Given the description of an element on the screen output the (x, y) to click on. 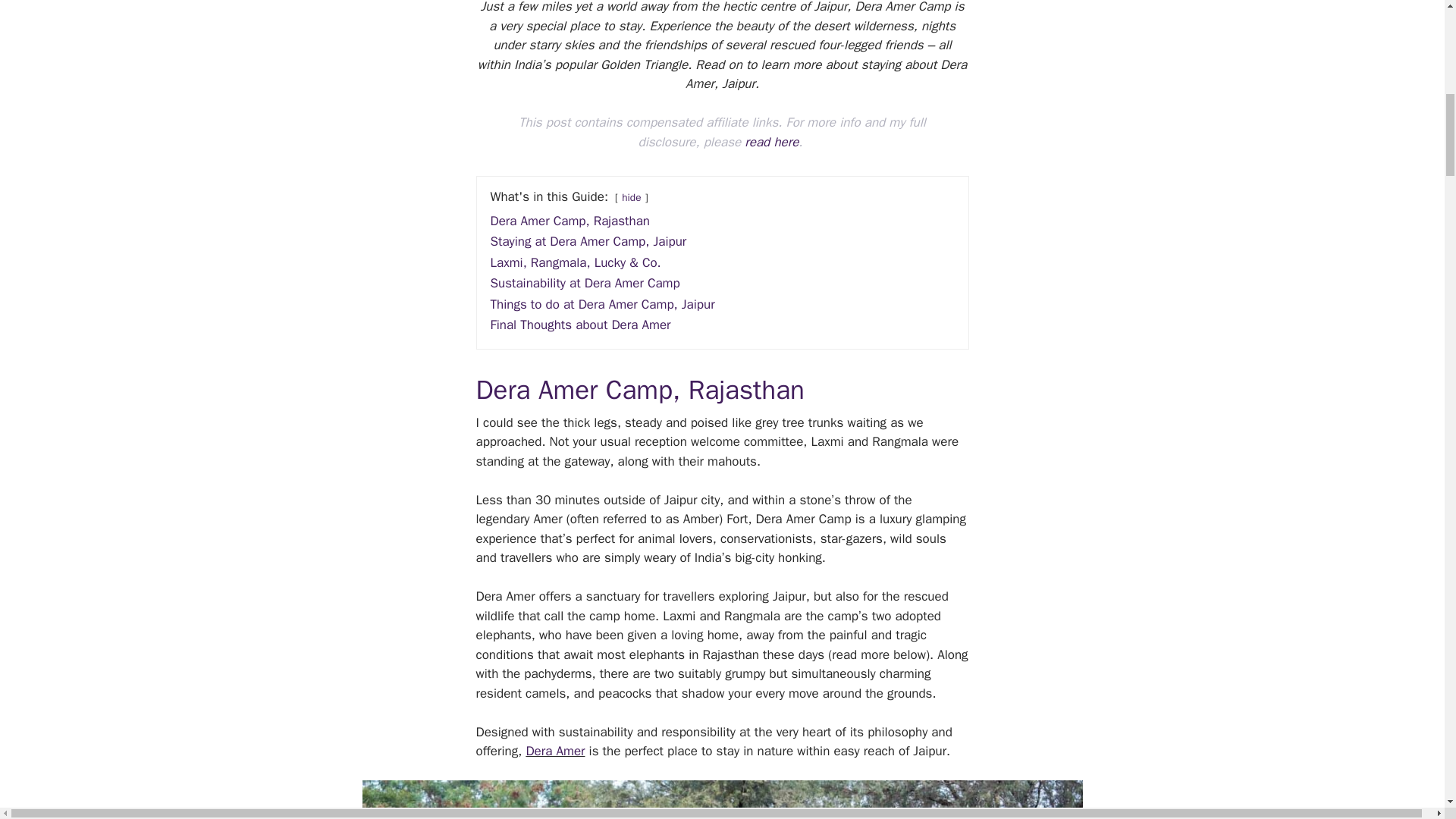
Staying at Dera Amer Camp, Jaipur (587, 241)
Things to do at Dera Amer Camp, Jaipur (601, 304)
Scroll back to top (1406, 708)
Final Thoughts about Dera Amer (579, 324)
Sustainability at Dera Amer Camp (584, 283)
Dera Amer (555, 750)
Dera Amer Camp, Rajasthan (569, 220)
read here (770, 141)
hide (630, 196)
